Given the description of an element on the screen output the (x, y) to click on. 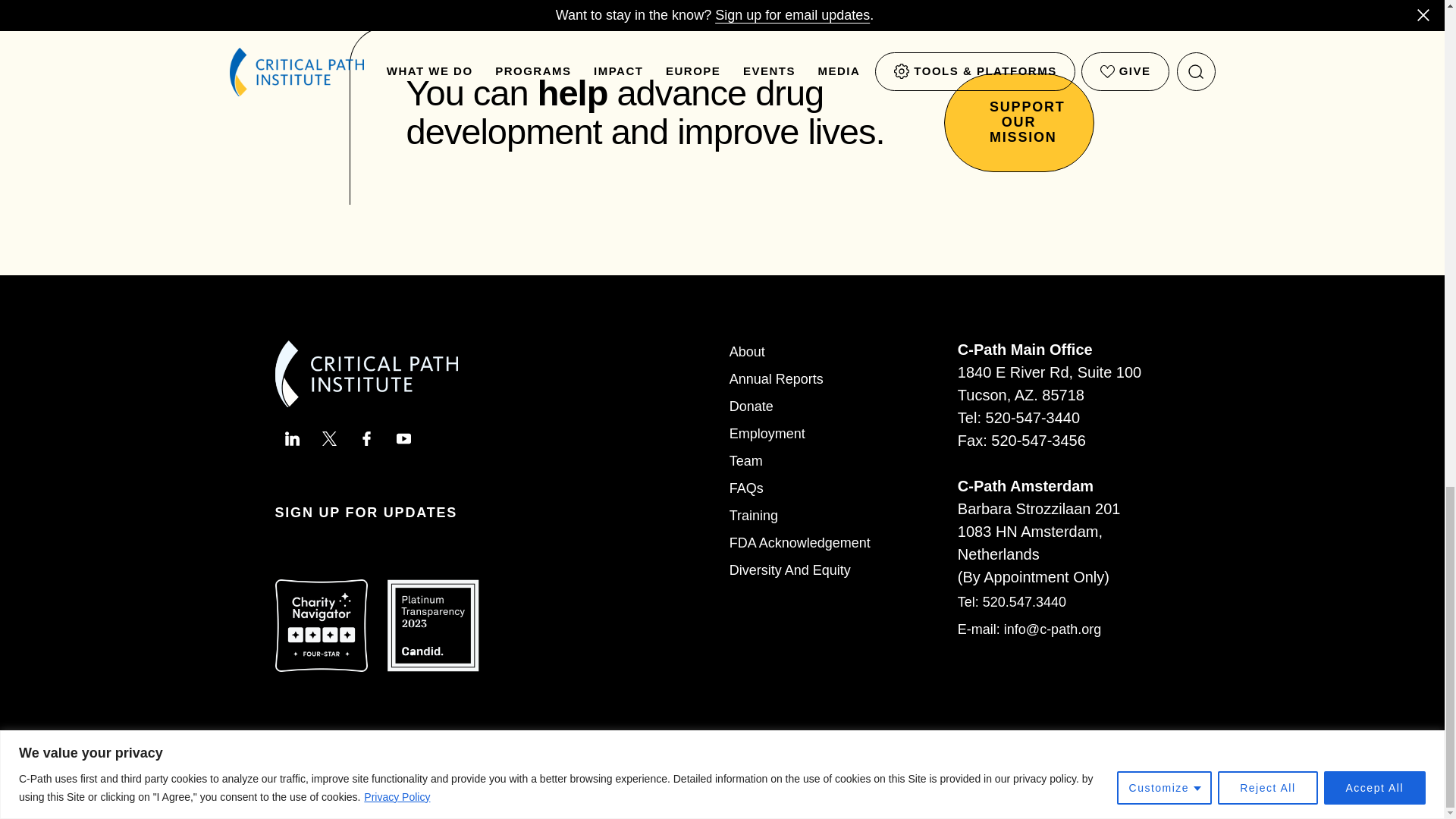
SUPPORT OUR MISSION (1018, 121)
charity-navigator (320, 625)
transparency-platinum (433, 625)
Support Our Mission (1018, 121)
